Given the description of an element on the screen output the (x, y) to click on. 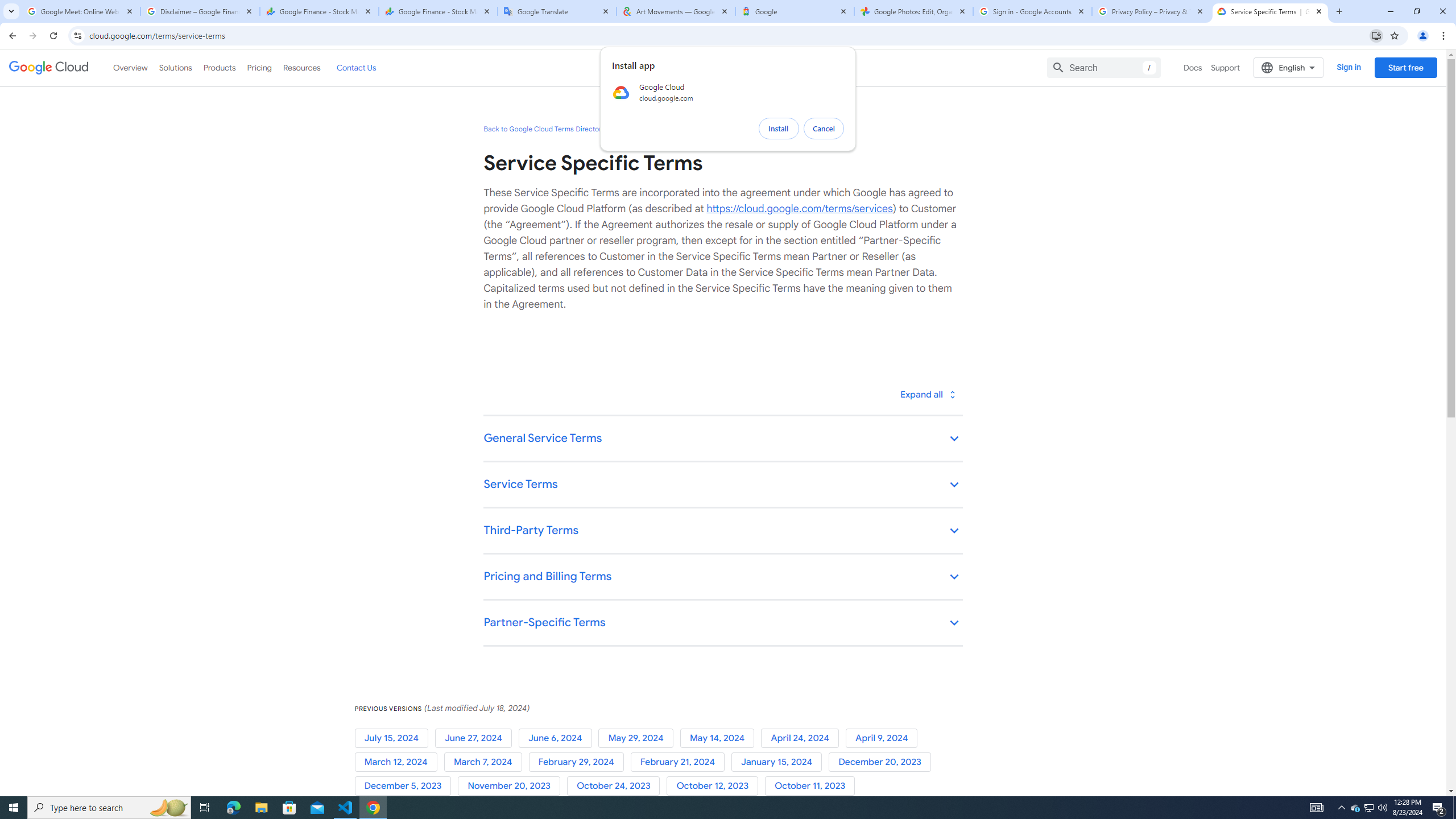
Cancel (823, 128)
April 9, 2024 (883, 737)
Install (778, 128)
July 15, 2024 (394, 737)
Google (794, 11)
November 20, 2023 (511, 786)
